Given the description of an element on the screen output the (x, y) to click on. 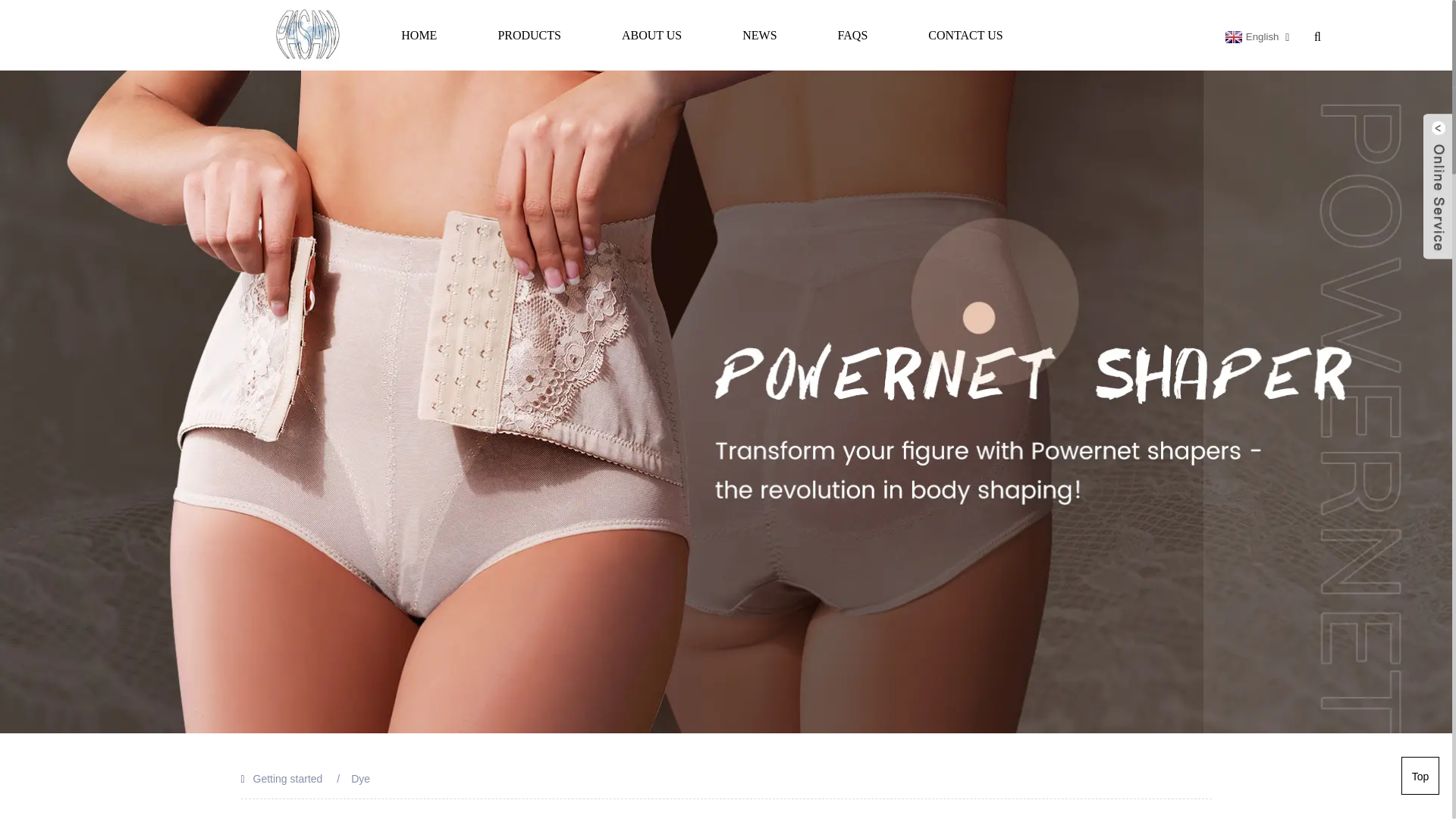
PRODUCTS (528, 34)
English (1250, 37)
Dye (359, 778)
ABOUT US (651, 34)
CONTACT US (965, 34)
Getting started (288, 778)
